Given the description of an element on the screen output the (x, y) to click on. 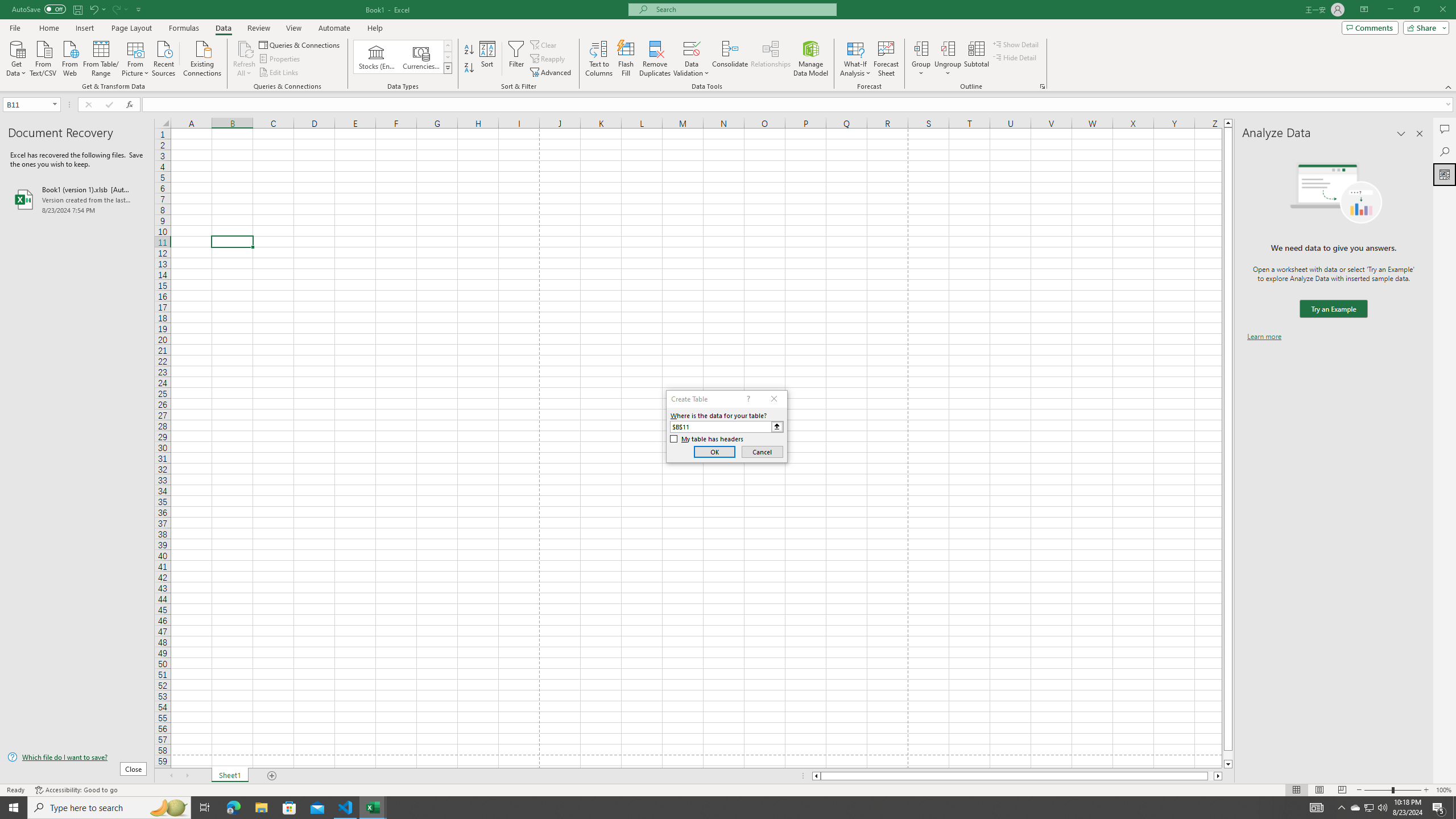
Currencies (English) (420, 56)
Queries & Connections (300, 44)
Advanced... (551, 72)
Hide Detail (1014, 56)
From Text/CSV (43, 57)
Reapply (548, 58)
